Given the description of an element on the screen output the (x, y) to click on. 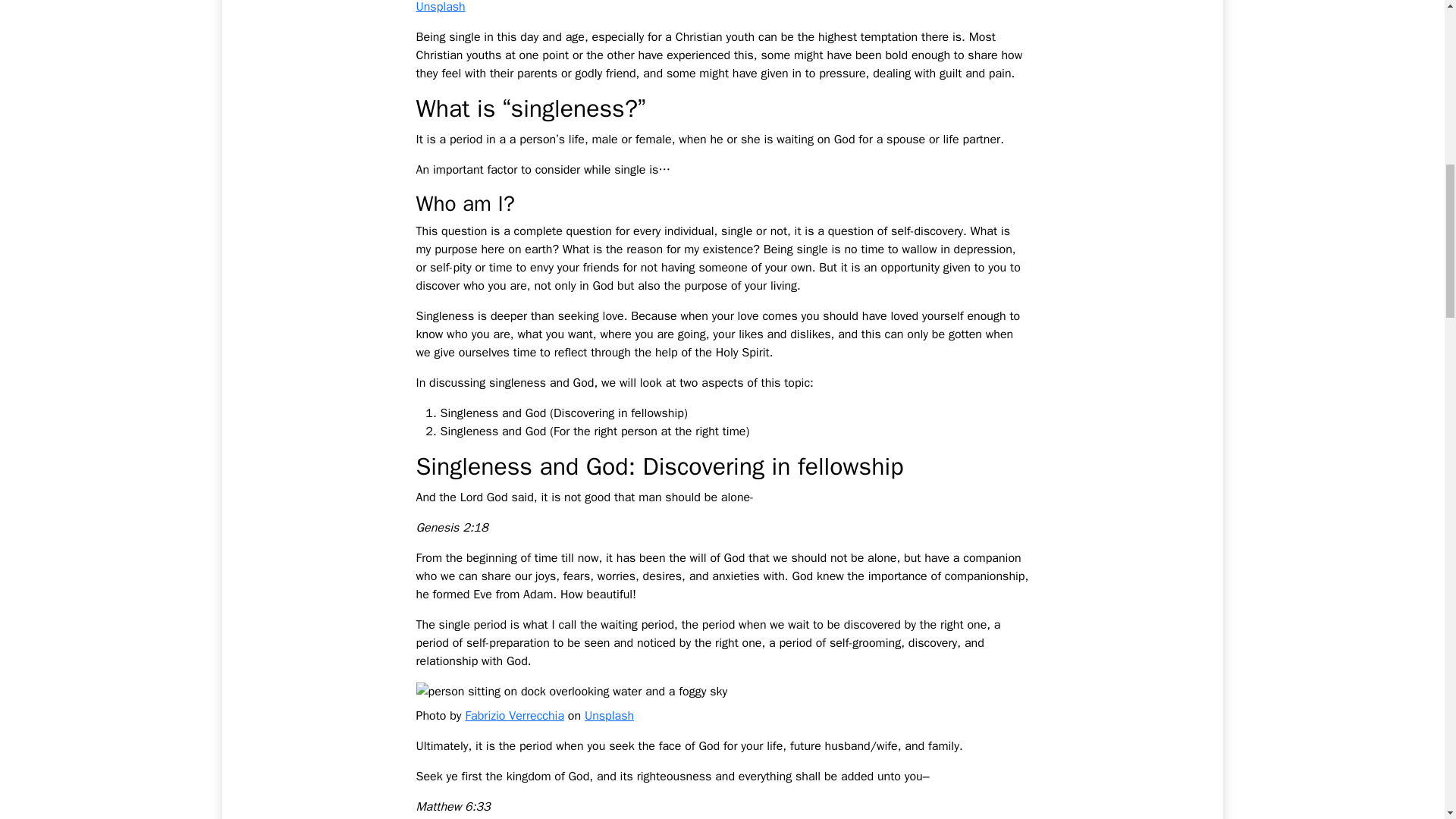
Unsplash (609, 715)
Fabrizio Verrecchia (514, 715)
Unsplash (439, 7)
